Given the description of an element on the screen output the (x, y) to click on. 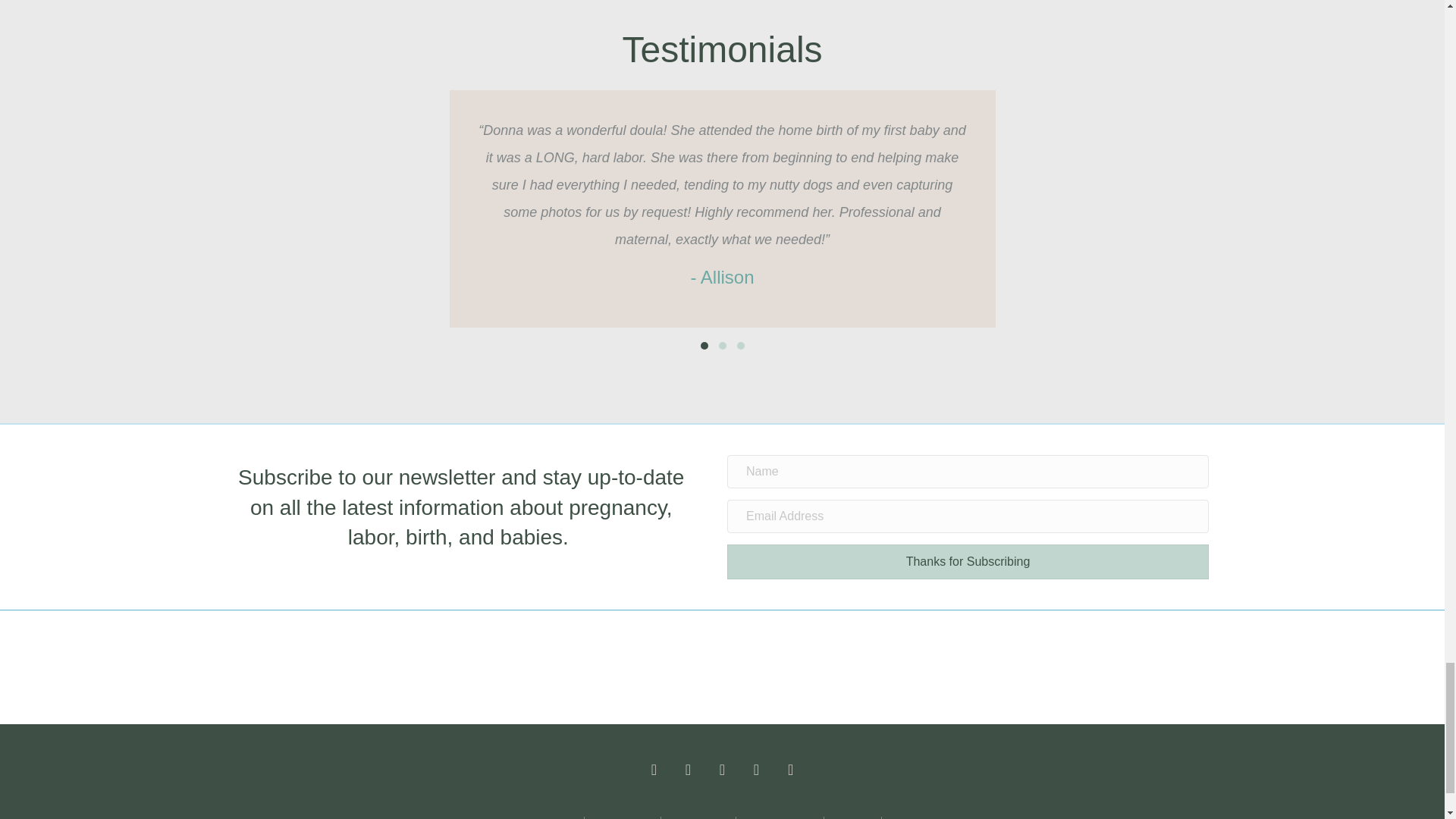
Thanks for Subscribing (967, 561)
YourChoice Our Support (778, 667)
Testimonial Slide 1 (703, 345)
Pinterest (756, 769)
Facebook (653, 769)
orlando-doulas-logo - 1 (665, 667)
Twitter (687, 769)
WhatsApp (791, 769)
CLASSES (852, 817)
WELCOME (552, 817)
Instagram (721, 769)
Testimonial Slide 2 (721, 345)
Testimonial Slide 3 (739, 345)
BLOG (901, 817)
WHAT WE DO (698, 817)
